Given the description of an element on the screen output the (x, y) to click on. 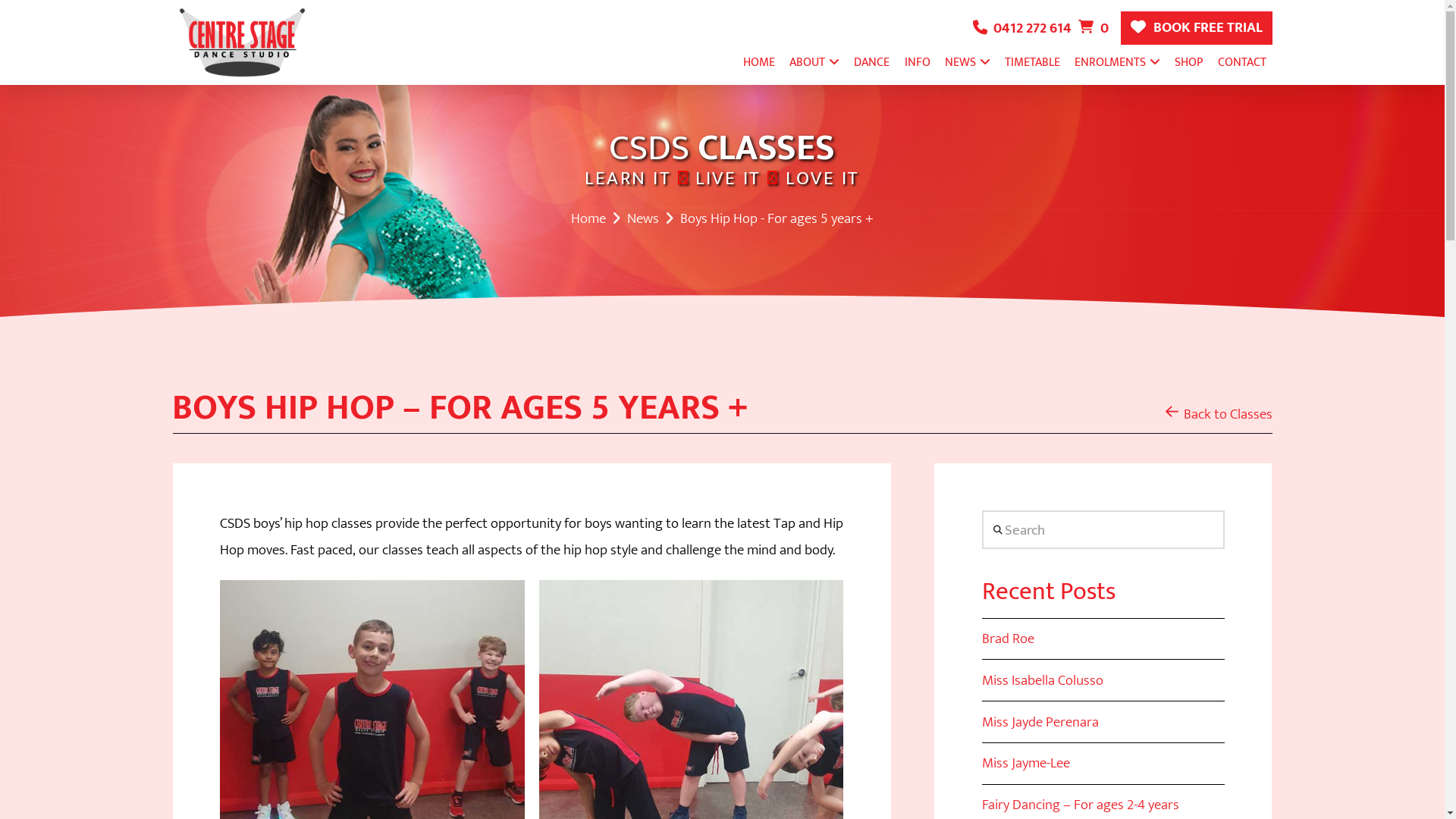
ENROLMENTS Element type: text (1117, 61)
Miss Jayme-Lee Element type: text (1026, 762)
NEWS Element type: text (967, 61)
HOME Element type: text (759, 61)
INFO Element type: text (917, 61)
ABOUT Element type: text (814, 61)
  0412 272 614 Element type: text (1021, 27)
Home Element type: text (588, 218)
DANCE Element type: text (871, 61)
News Element type: text (642, 218)
CONTACT Element type: text (1241, 61)
BOOK FREE TRIAL Element type: text (1196, 27)
Brad Roe Element type: text (1008, 638)
Boys Hip Hop - For ages 5 years + Element type: text (776, 218)
TIMETABLE Element type: text (1032, 61)
Miss Jayde Perenara Element type: text (1040, 721)
Back to Classes Element type: text (1217, 413)
Miss Isabella Colusso Element type: text (1042, 680)
SHOP Element type: text (1188, 61)
